Given the description of an element on the screen output the (x, y) to click on. 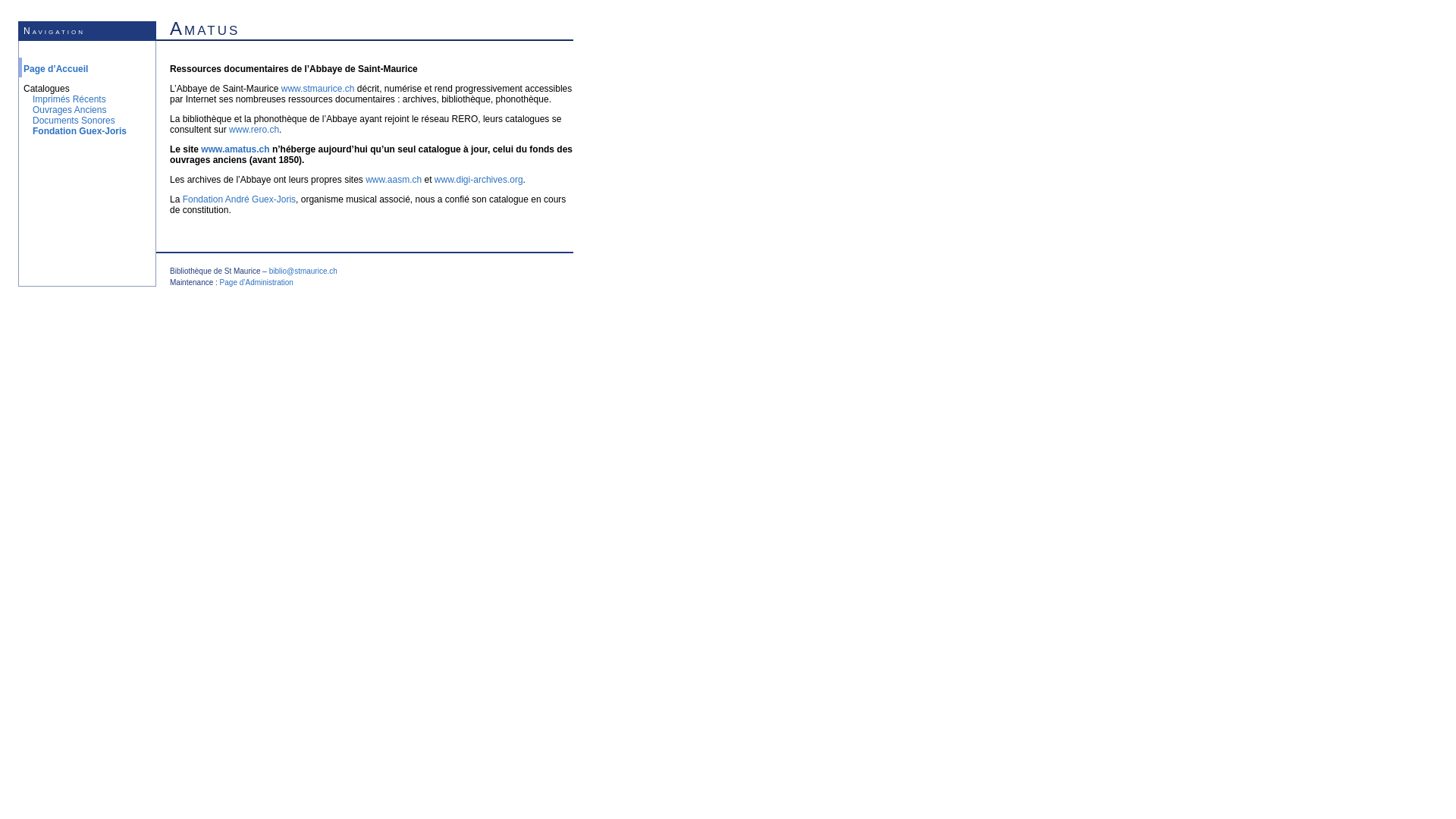
www.stmaurice.ch Element type: text (317, 88)
www.amatus.ch Element type: text (234, 149)
biblio@stmaurice.ch Element type: text (303, 270)
www.aasm.ch Element type: text (393, 179)
www.rero.ch Element type: text (254, 129)
Fondation Guex-Joris Element type: text (79, 130)
www.digi-archives.org Element type: text (478, 179)
Documents Sonores Element type: text (73, 120)
Ouvrages Anciens Element type: text (69, 109)
